Given the description of an element on the screen output the (x, y) to click on. 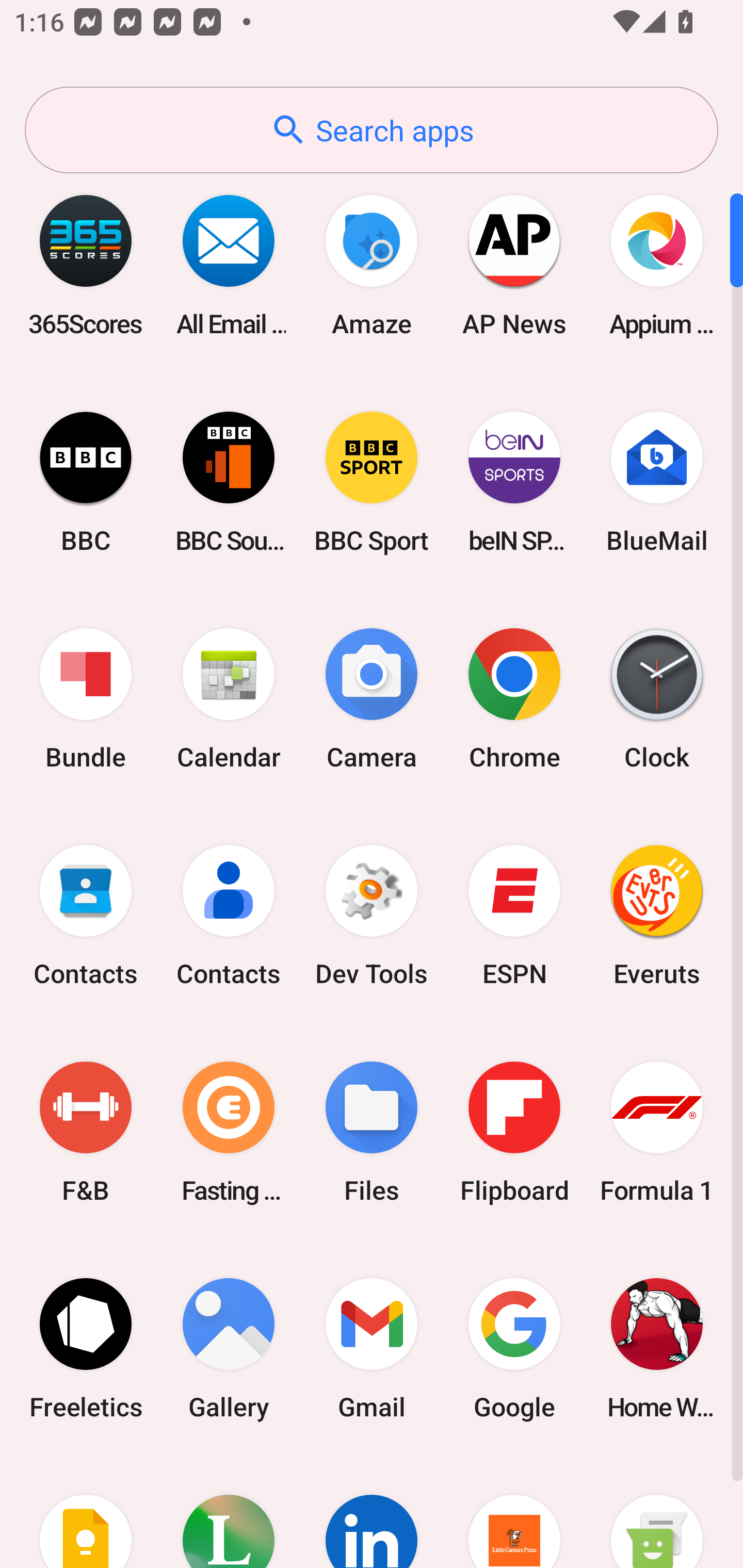
  Search apps (371, 130)
365Scores (85, 264)
All Email Connect (228, 264)
Amaze (371, 264)
AP News (514, 264)
Appium Settings (656, 264)
BBC (85, 482)
BBC Sounds (228, 482)
BBC Sport (371, 482)
beIN SPORTS (514, 482)
BlueMail (656, 482)
Bundle (85, 699)
Calendar (228, 699)
Camera (371, 699)
Chrome (514, 699)
Clock (656, 699)
Contacts (85, 915)
Contacts (228, 915)
Dev Tools (371, 915)
ESPN (514, 915)
Everuts (656, 915)
F&B (85, 1131)
Fasting Coach (228, 1131)
Files (371, 1131)
Flipboard (514, 1131)
Formula 1 (656, 1131)
Freeletics (85, 1348)
Gallery (228, 1348)
Gmail (371, 1348)
Google (514, 1348)
Home Workout (656, 1348)
Keep Notes (85, 1512)
Lifesum (228, 1512)
LinkedIn (371, 1512)
Little Caesars Pizza (514, 1512)
Messaging (656, 1512)
